Given the description of an element on the screen output the (x, y) to click on. 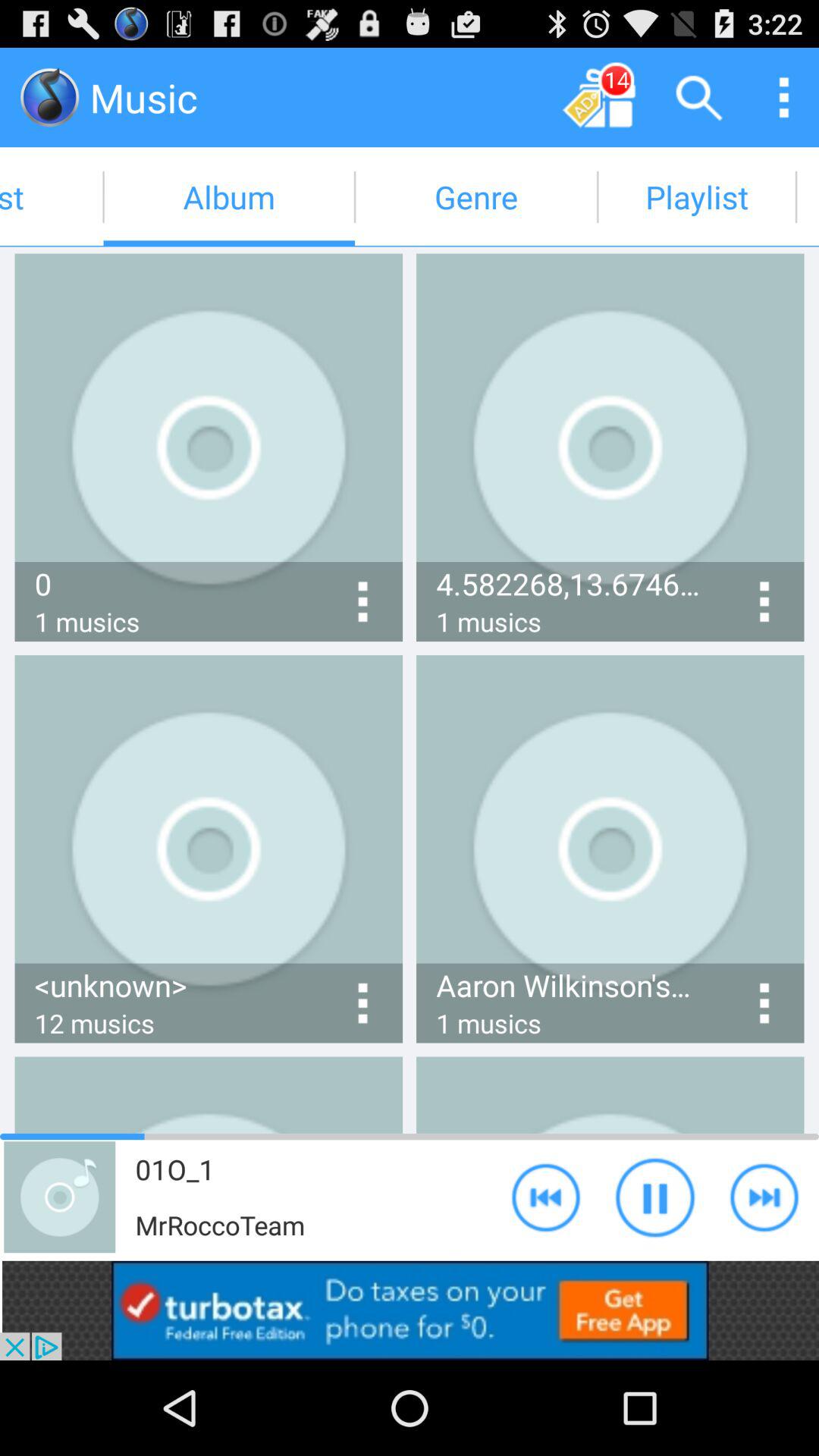
pause audio (654, 1196)
